Given the description of an element on the screen output the (x, y) to click on. 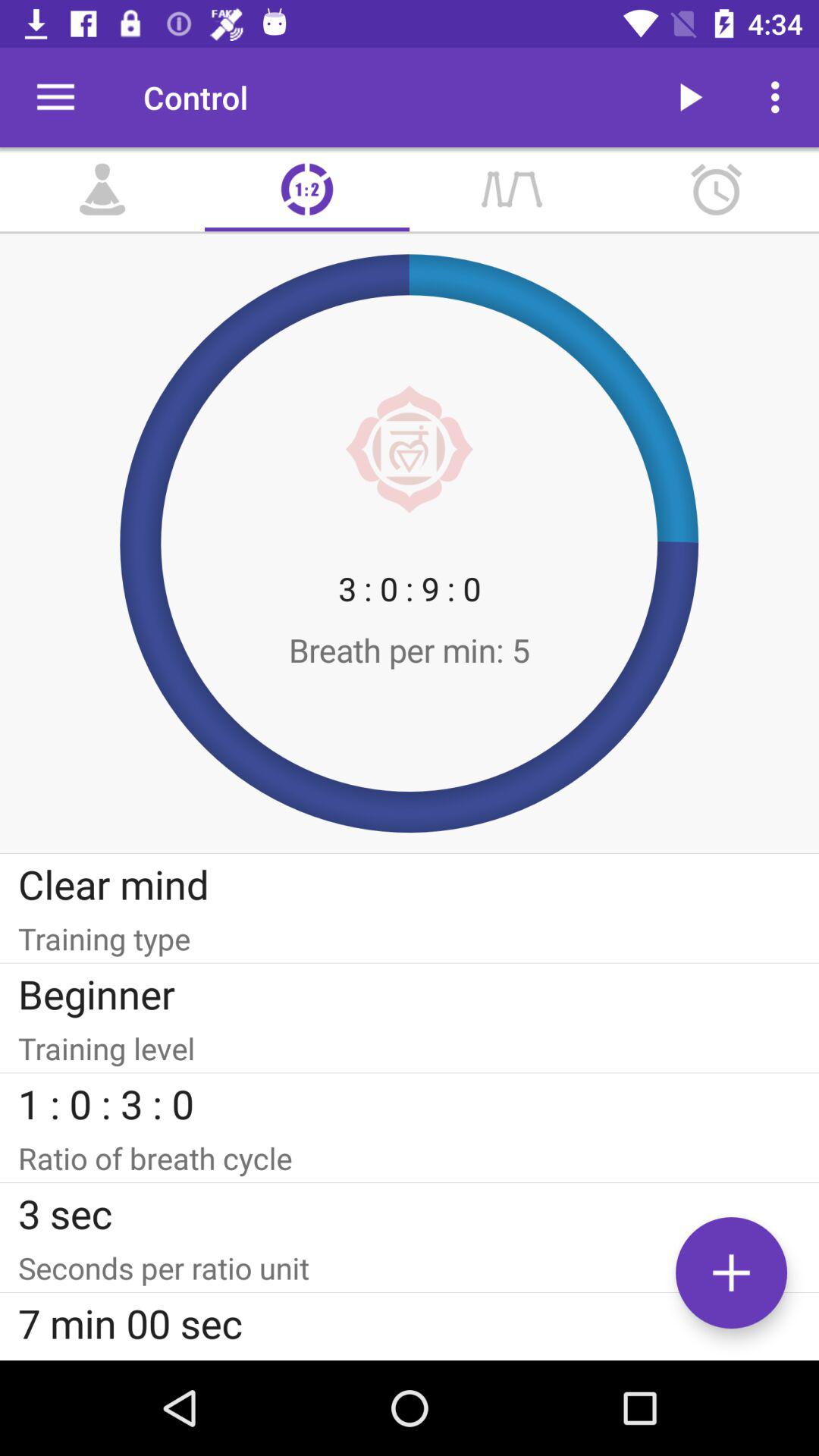
swipe until ratio of breath item (409, 1158)
